Given the description of an element on the screen output the (x, y) to click on. 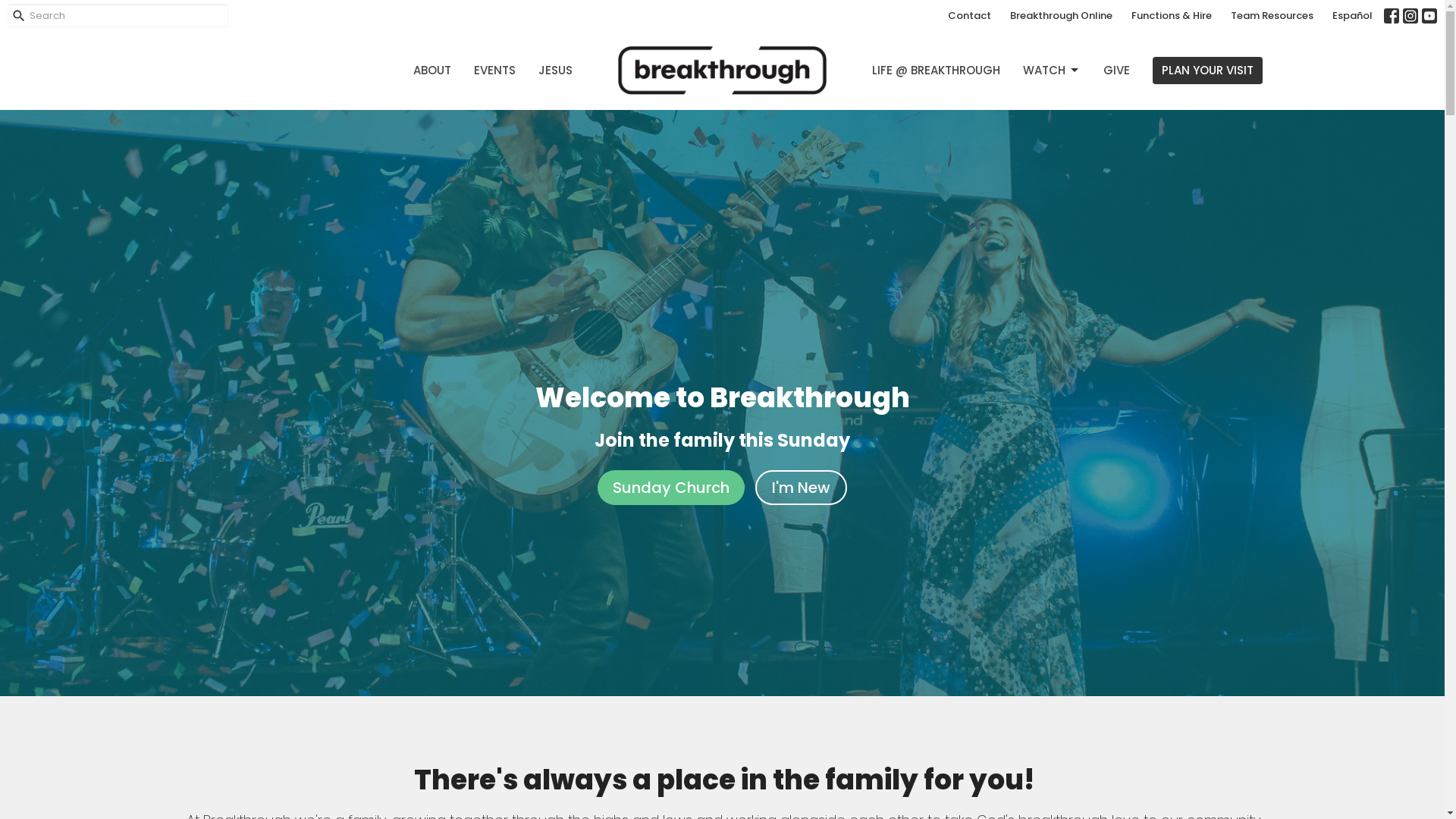
Breakthrough Online Element type: text (1061, 15)
ABOUT Element type: text (432, 69)
Functions & Hire Element type: text (1171, 15)
PLAN YOUR VISIT Element type: text (1207, 69)
Sunday Church Element type: text (670, 487)
WATCH Element type: text (1051, 69)
LIFE @ BREAKTHROUGH Element type: text (936, 69)
GIVE Element type: text (1116, 69)
Contact Element type: text (969, 15)
Team Resources Element type: text (1272, 15)
JESUS Element type: text (555, 69)
EVENTS Element type: text (494, 69)
I'm New Element type: text (801, 487)
